Given the description of an element on the screen output the (x, y) to click on. 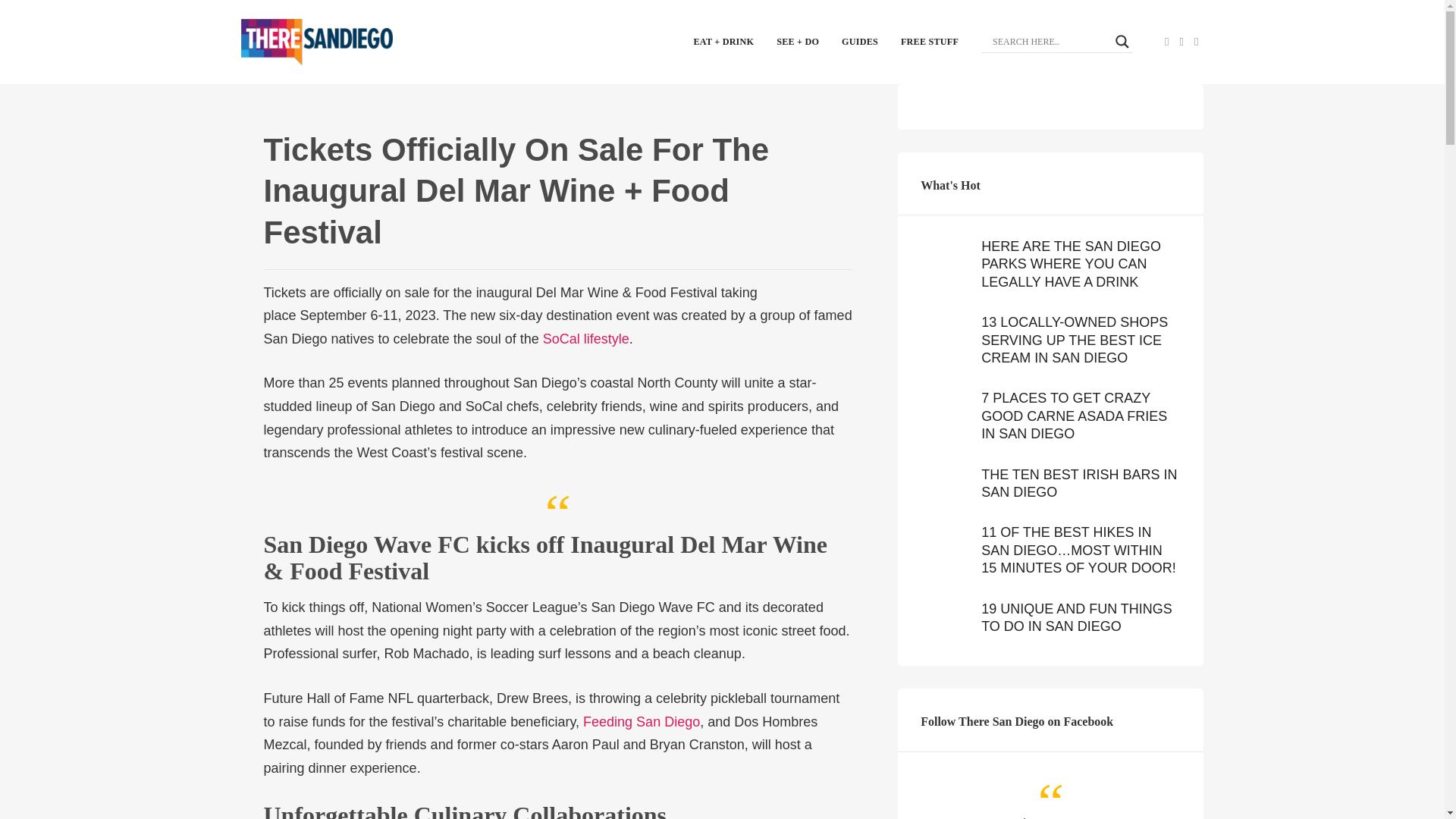
SoCal lifestyle (585, 338)
FREE STUFF (929, 41)
GUIDES (859, 41)
Feeding San Diego (641, 721)
